Given the description of an element on the screen output the (x, y) to click on. 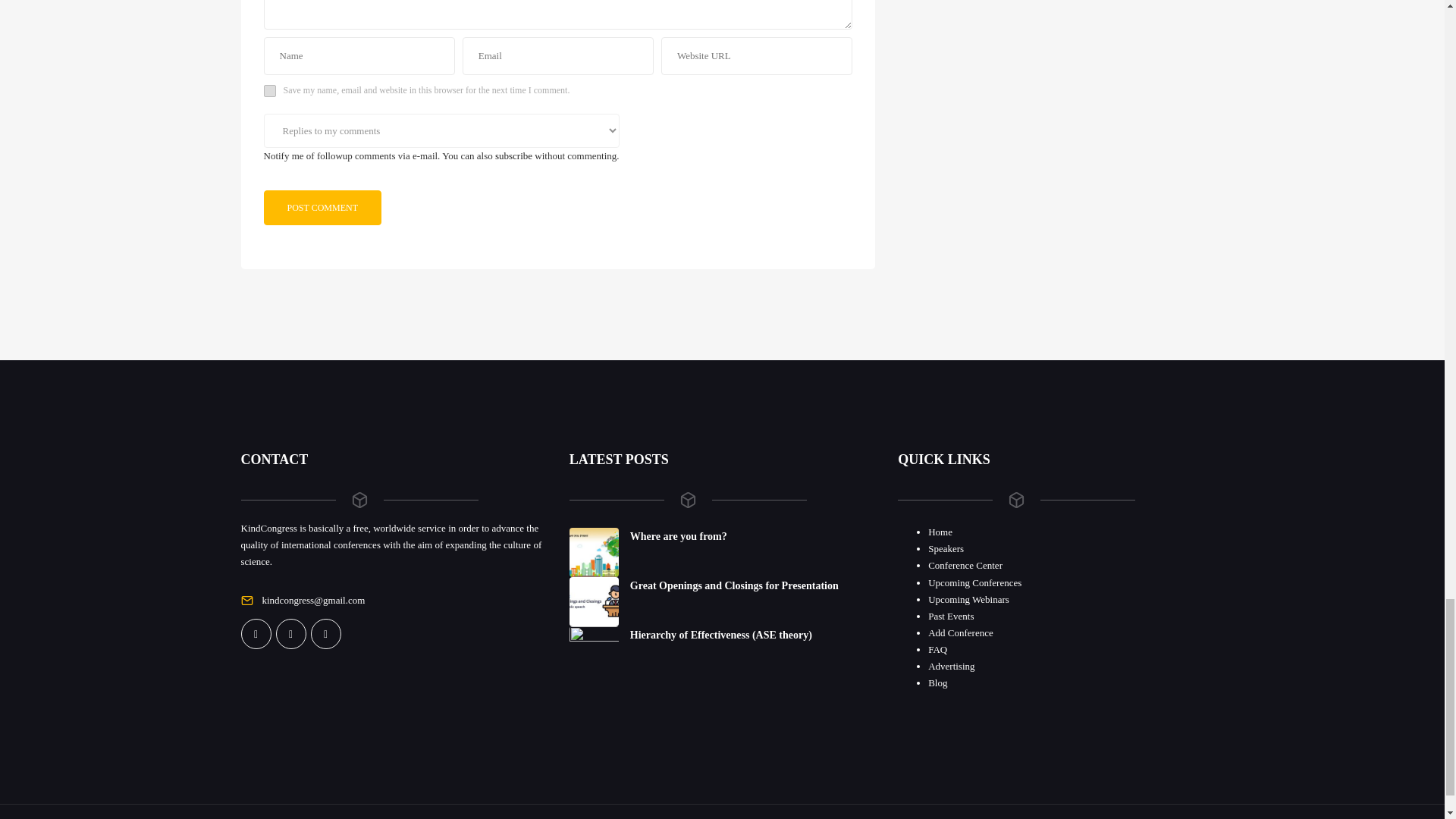
Post Comment (322, 207)
